Given the description of an element on the screen output the (x, y) to click on. 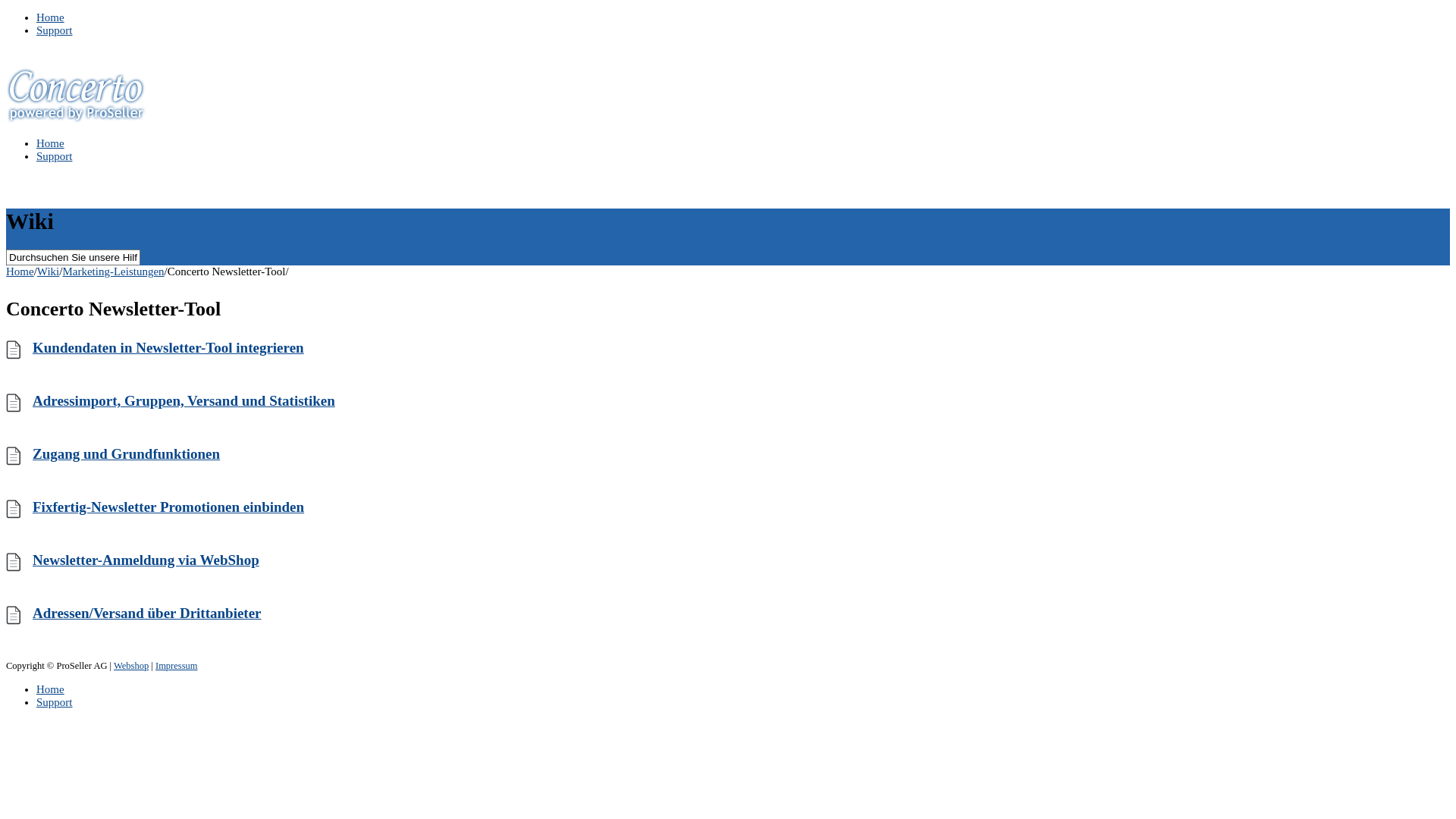
Support Element type: text (54, 30)
Support Element type: text (54, 156)
Wiki Element type: text (48, 271)
Home Element type: text (50, 17)
Home Element type: text (50, 143)
Adressimport, Gruppen, Versand und Statistiken Element type: text (183, 400)
Zugang und Grundfunktionen Element type: text (125, 453)
Home Element type: text (50, 689)
Fixfertig-Newsletter Promotionen einbinden Element type: text (168, 506)
Concerto-Support Element type: hover (75, 118)
Impressum Element type: text (176, 665)
Newsletter-Anmeldung via WebShop Element type: text (145, 559)
Support Element type: text (54, 702)
Webshop Element type: text (130, 665)
Marketing-Leistungen Element type: text (112, 271)
Home Element type: text (20, 271)
Kundendaten in Newsletter-Tool integrieren Element type: text (168, 347)
